Given the description of an element on the screen output the (x, y) to click on. 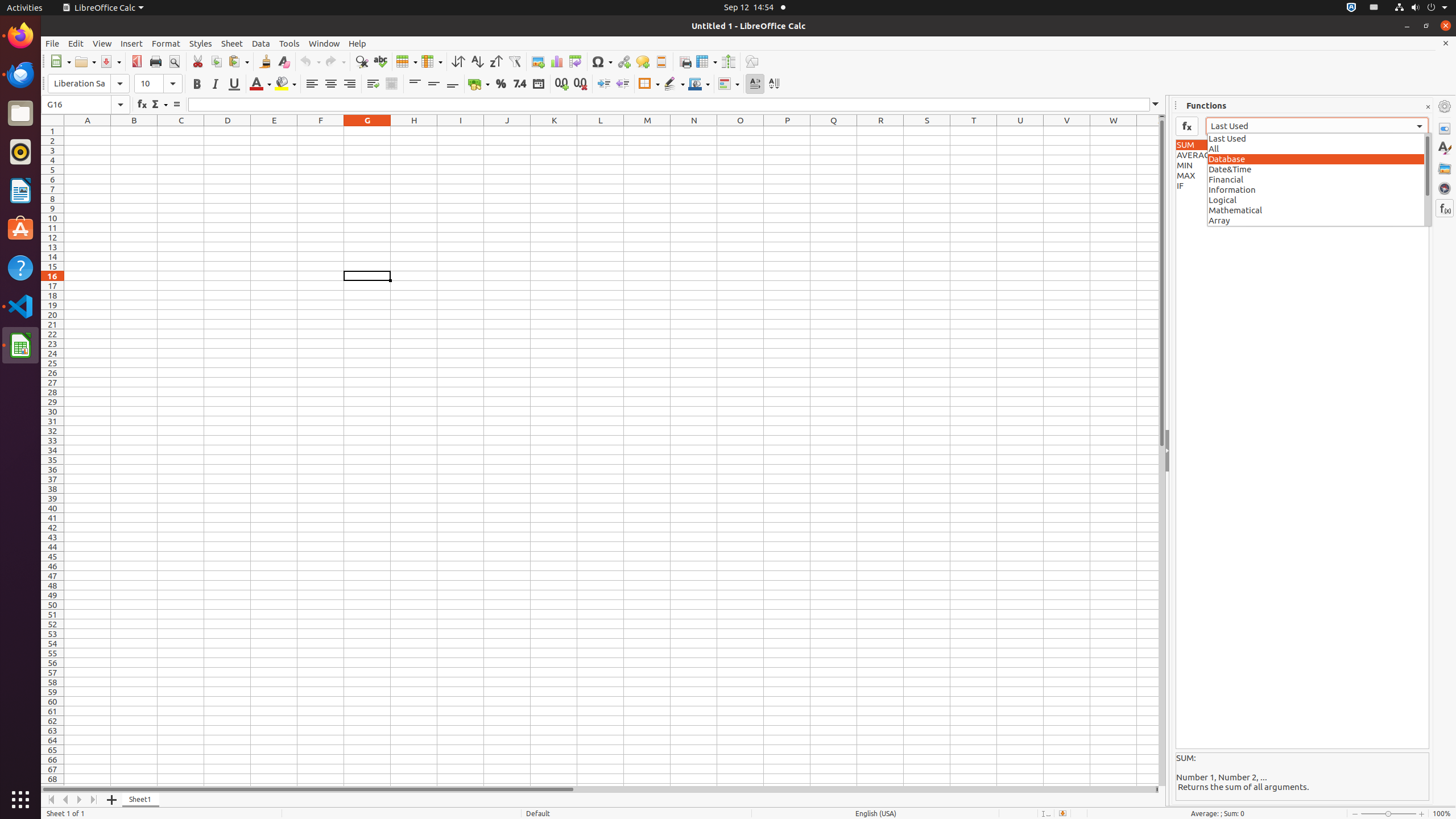
X1 Element type: table-cell (1147, 130)
Clear Element type: push-button (283, 61)
Vertical scroll bar Element type: scroll-bar (1161, 451)
View Element type: menu (102, 43)
Freeze Rows and Columns Element type: push-button (705, 61)
